Given the description of an element on the screen output the (x, y) to click on. 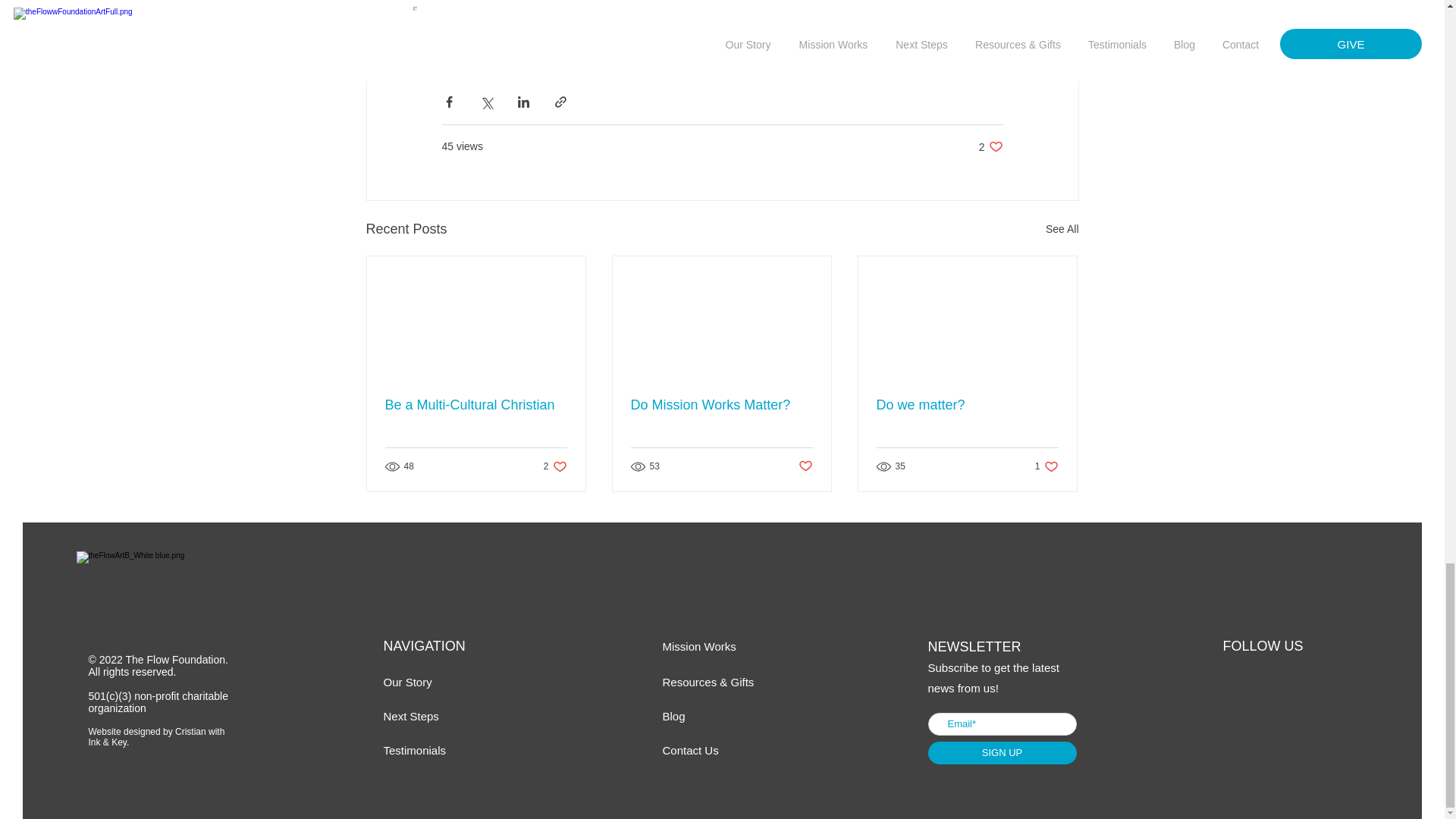
Contact Us (1046, 466)
SIGN UP (690, 749)
Mission Works (1002, 753)
Do Mission Works Matter? (699, 645)
Do we matter? (721, 405)
See All (967, 405)
Our Story (1061, 229)
Blog (555, 466)
Be a Multi-Cultural Christian (990, 146)
Post not marked as liked (408, 681)
Testimonials (673, 716)
Next Steps (476, 405)
